Given the description of an element on the screen output the (x, y) to click on. 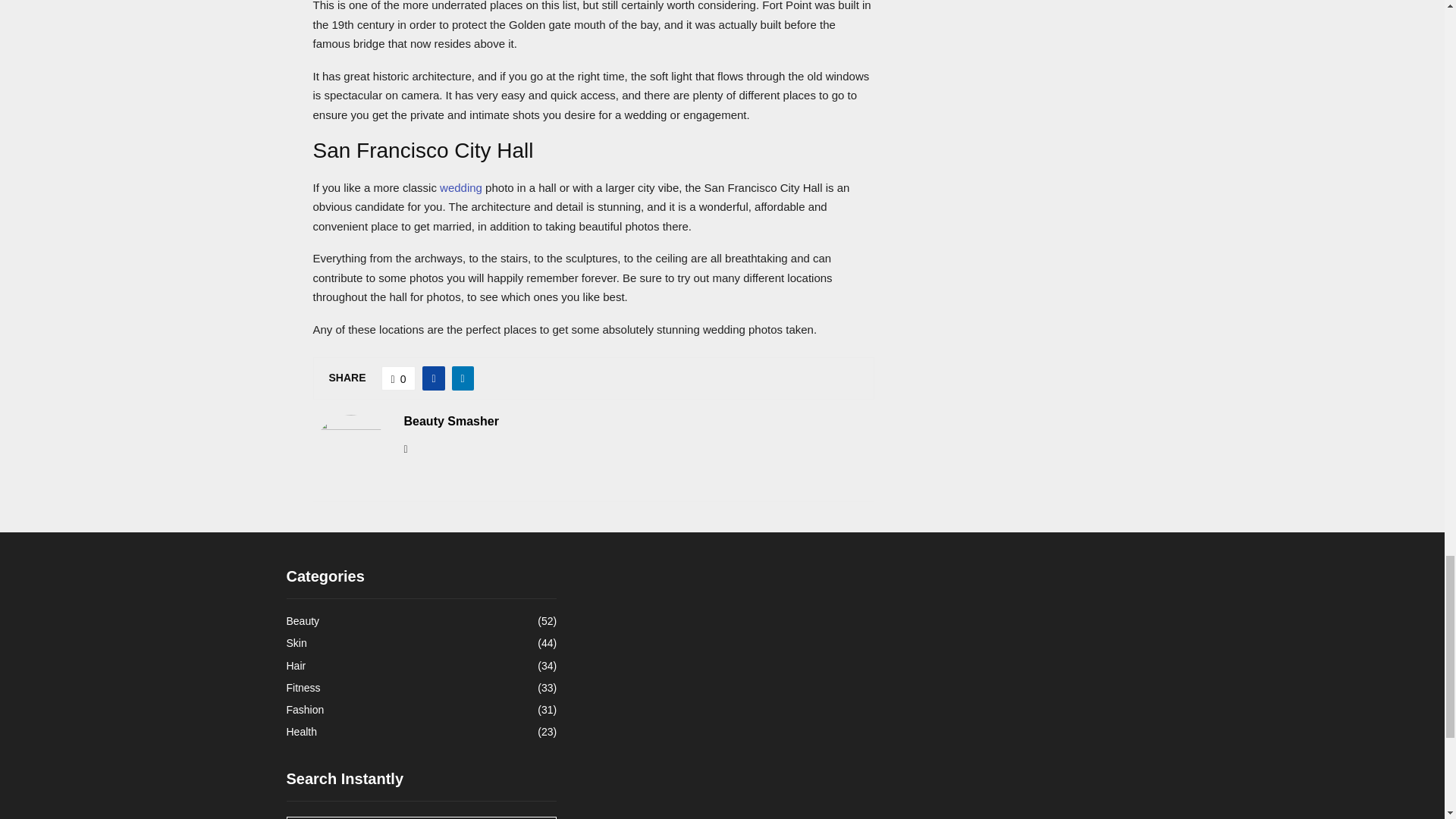
Posts by Beauty Smasher (450, 421)
Beauty Smasher (450, 421)
wedding (460, 187)
Like (398, 378)
0 (398, 378)
